Given the description of an element on the screen output the (x, y) to click on. 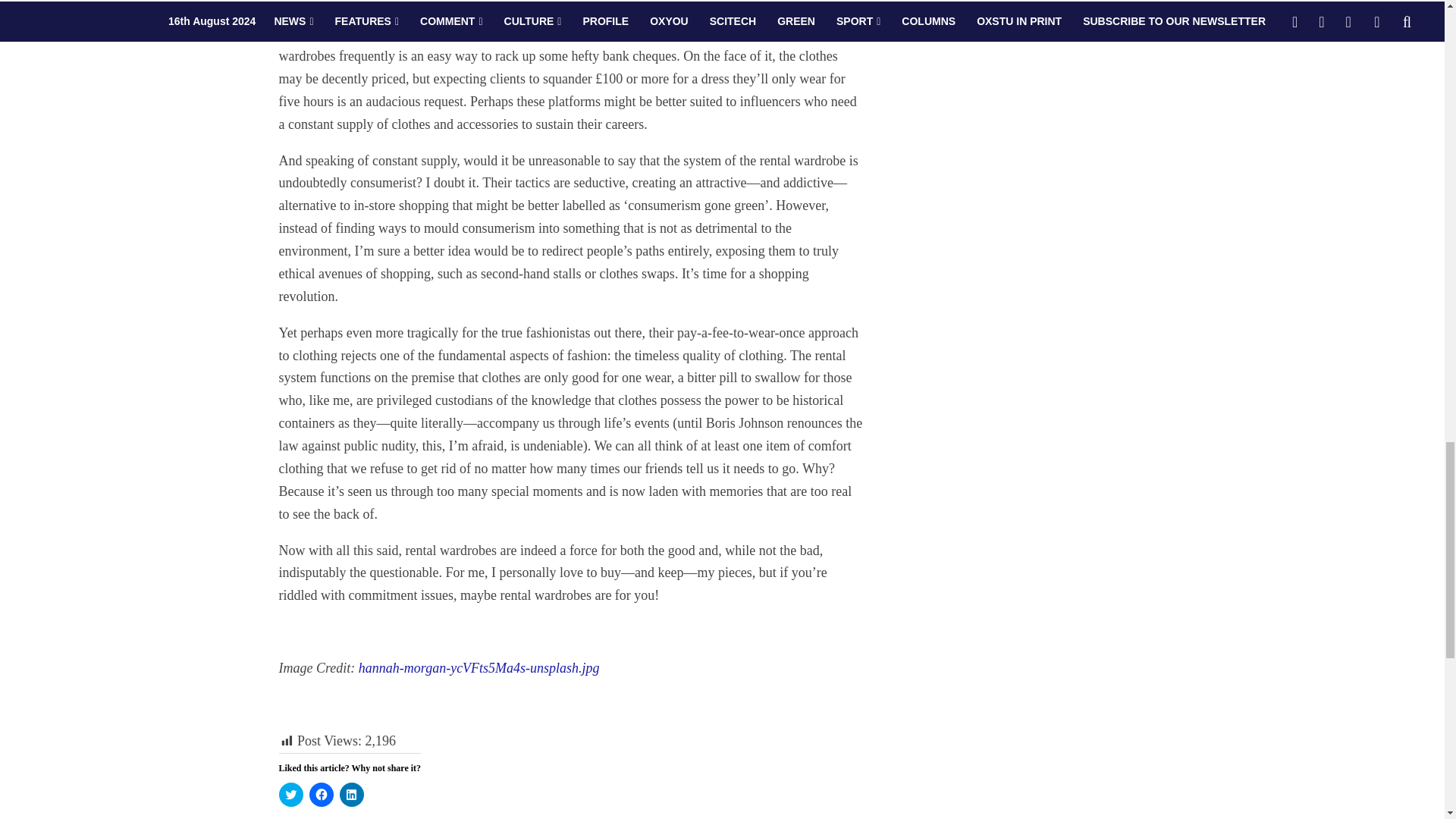
Click to share on Facebook (320, 794)
Click to share on LinkedIn (351, 794)
Click to share on Twitter (290, 794)
